Given the description of an element on the screen output the (x, y) to click on. 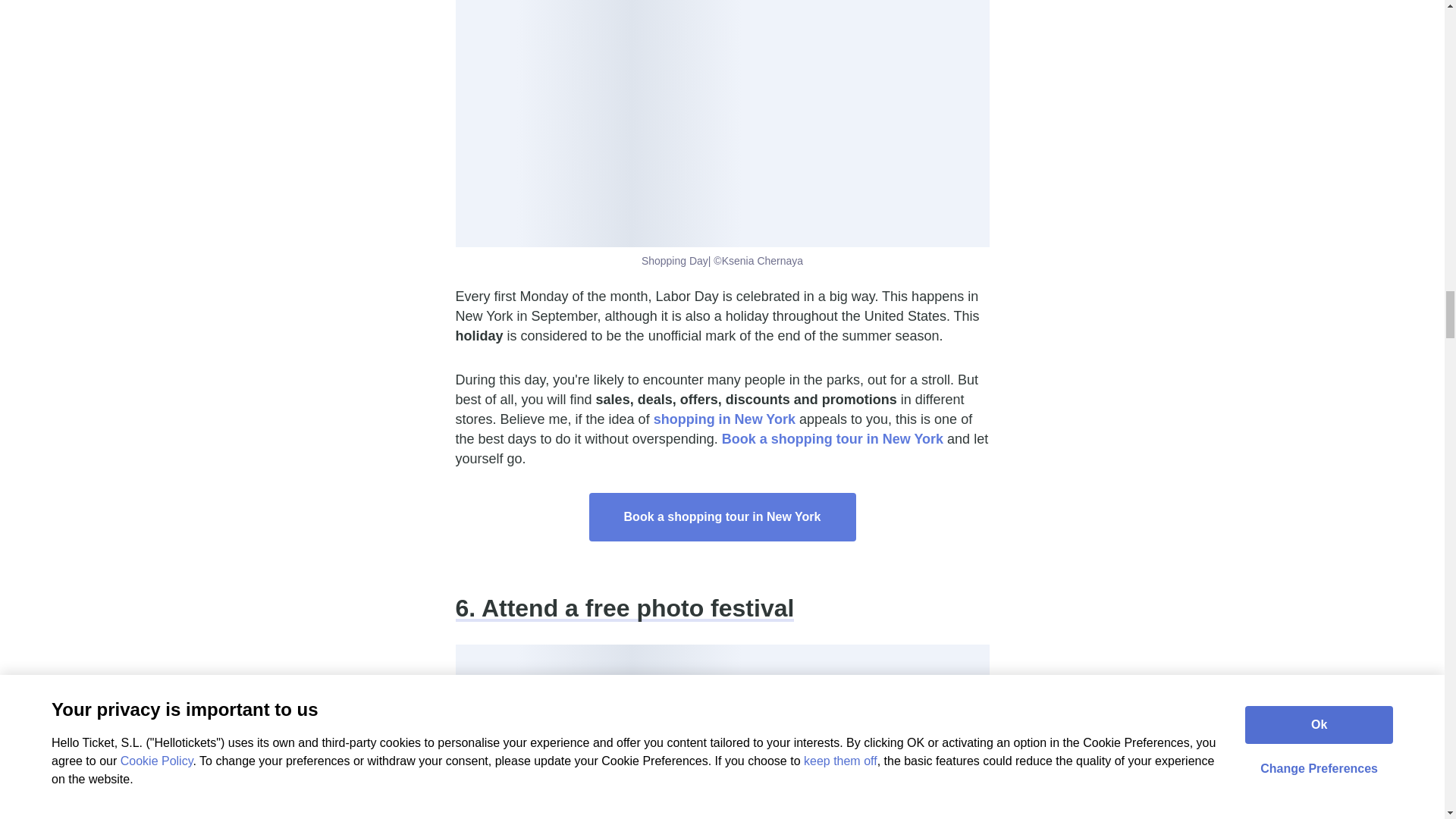
Book a shopping tour in New York (722, 517)
Book a shopping tour in New York (832, 438)
shopping in New York (723, 418)
